Given the description of an element on the screen output the (x, y) to click on. 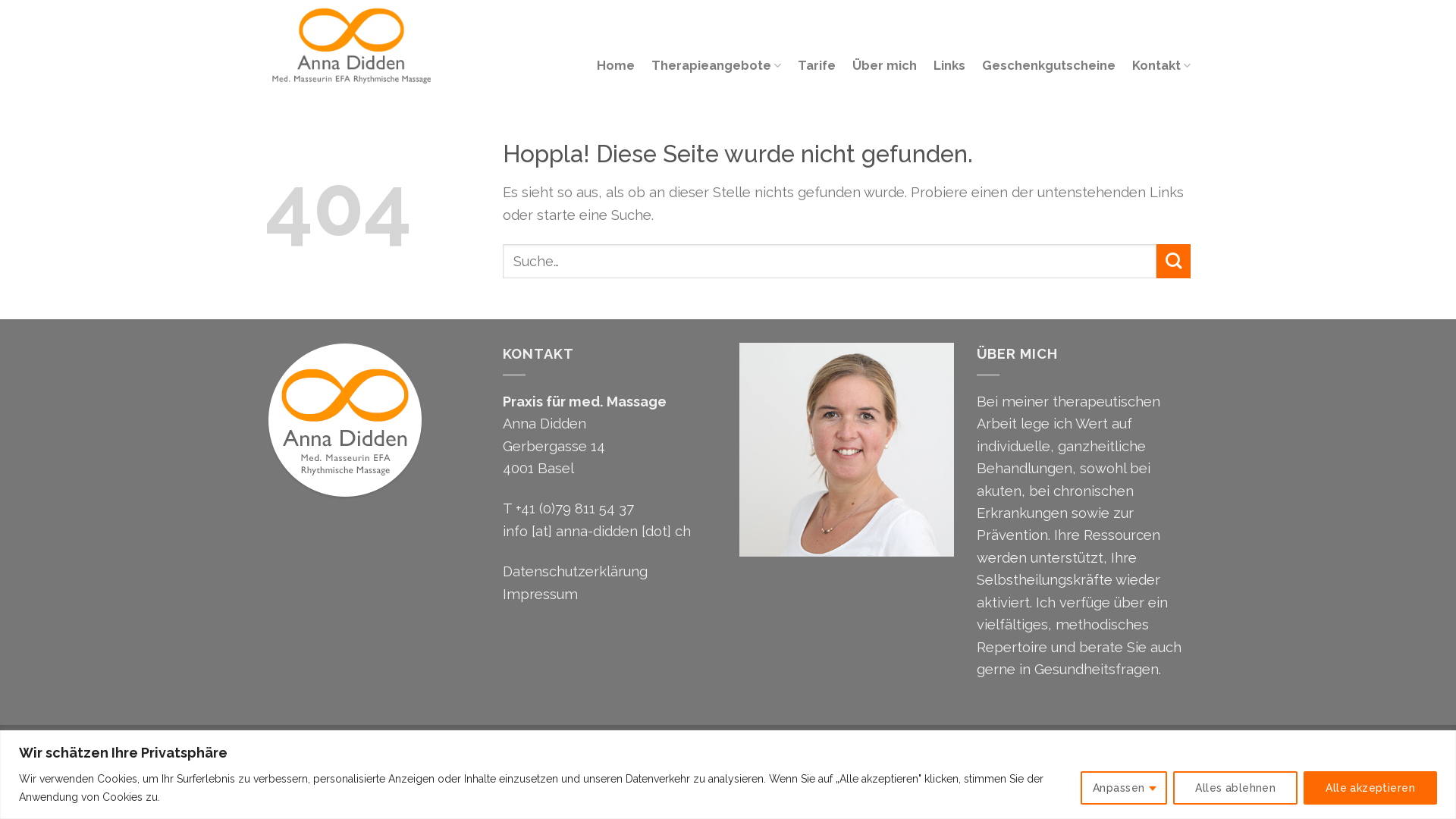
Alle akzeptieren Element type: text (1370, 786)
Therapieangebote Element type: text (716, 65)
Tarife Element type: text (816, 65)
info [at] anna-didden [dot] ch Element type: text (596, 531)
Impressum Element type: text (539, 594)
T +41 (0)79 811 54 37 Element type: text (567, 508)
Geschenkgutscheine Element type: text (1048, 65)
Home Element type: text (615, 65)
Anpassen Element type: text (1123, 786)
Links Element type: text (949, 65)
Alles ablehnen Element type: text (1235, 786)
Kontakt Element type: text (1161, 65)
